Given the description of an element on the screen output the (x, y) to click on. 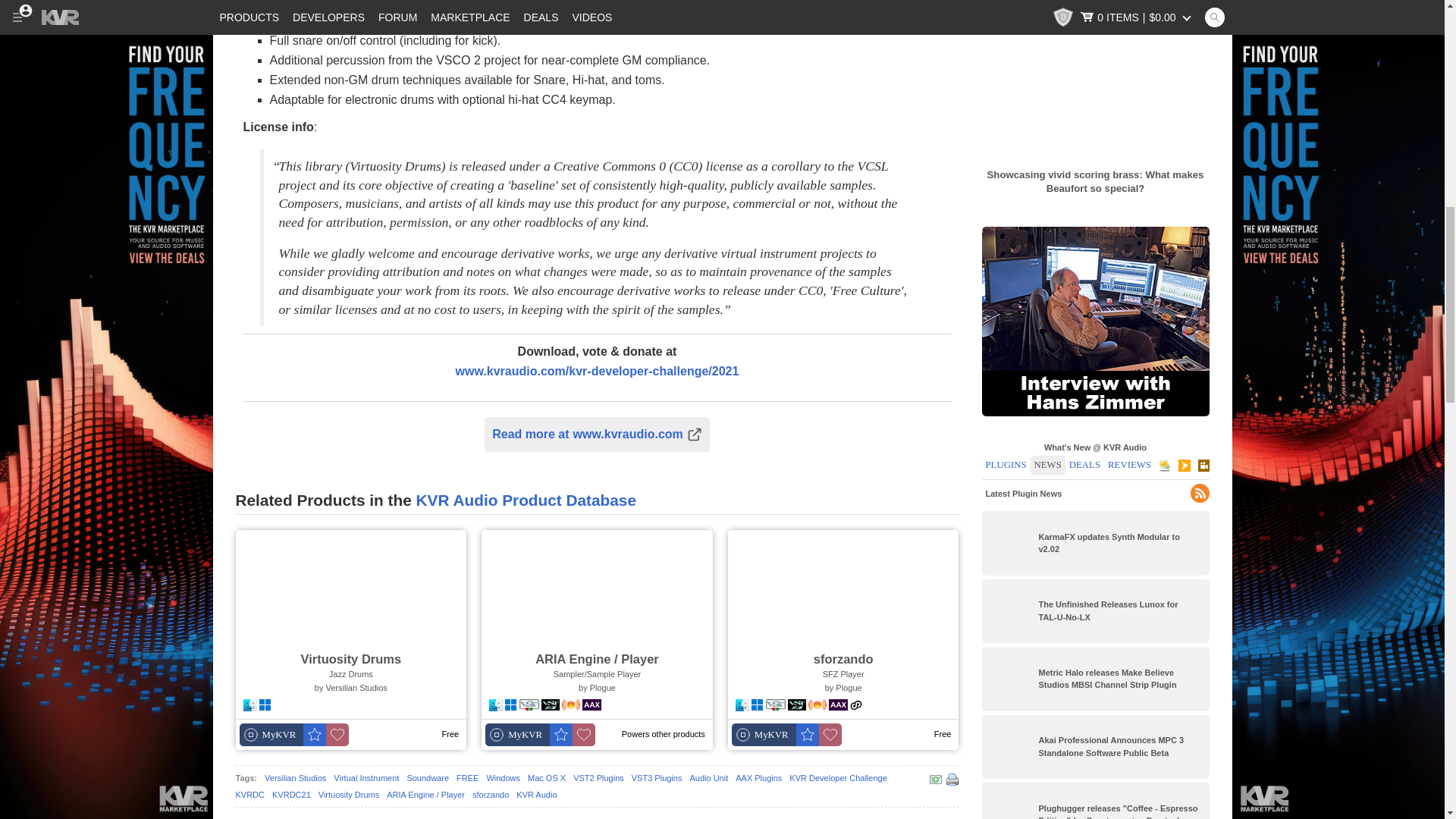
KVR Marketplace Deals (106, 63)
